Given the description of an element on the screen output the (x, y) to click on. 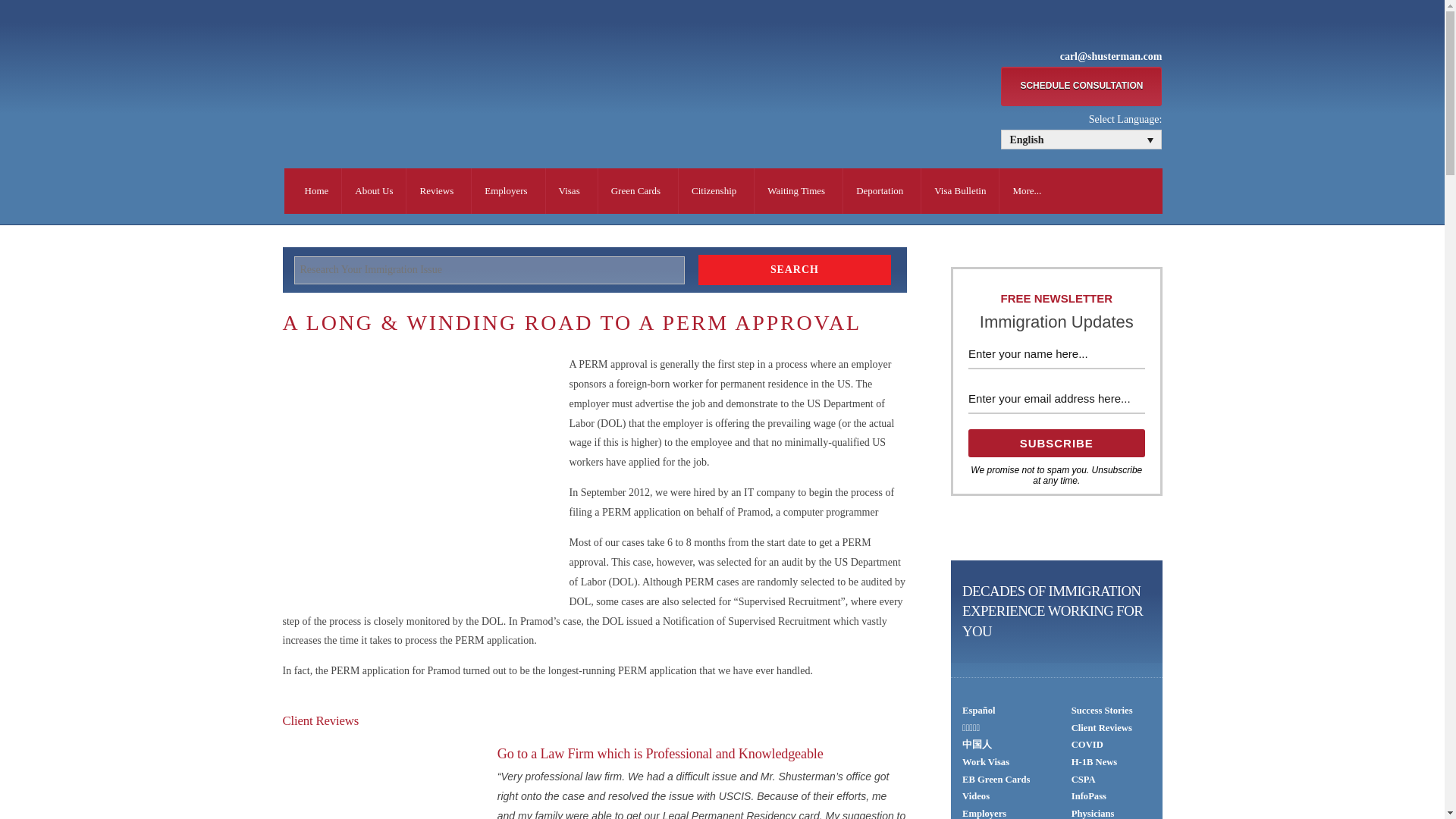
SCHEDULE CONSULTATION (1081, 86)
Subscribe (1056, 443)
Employers (508, 191)
English (1081, 139)
Reviews (438, 191)
Home (316, 191)
Search (794, 269)
About Us (373, 191)
